Given the description of an element on the screen output the (x, y) to click on. 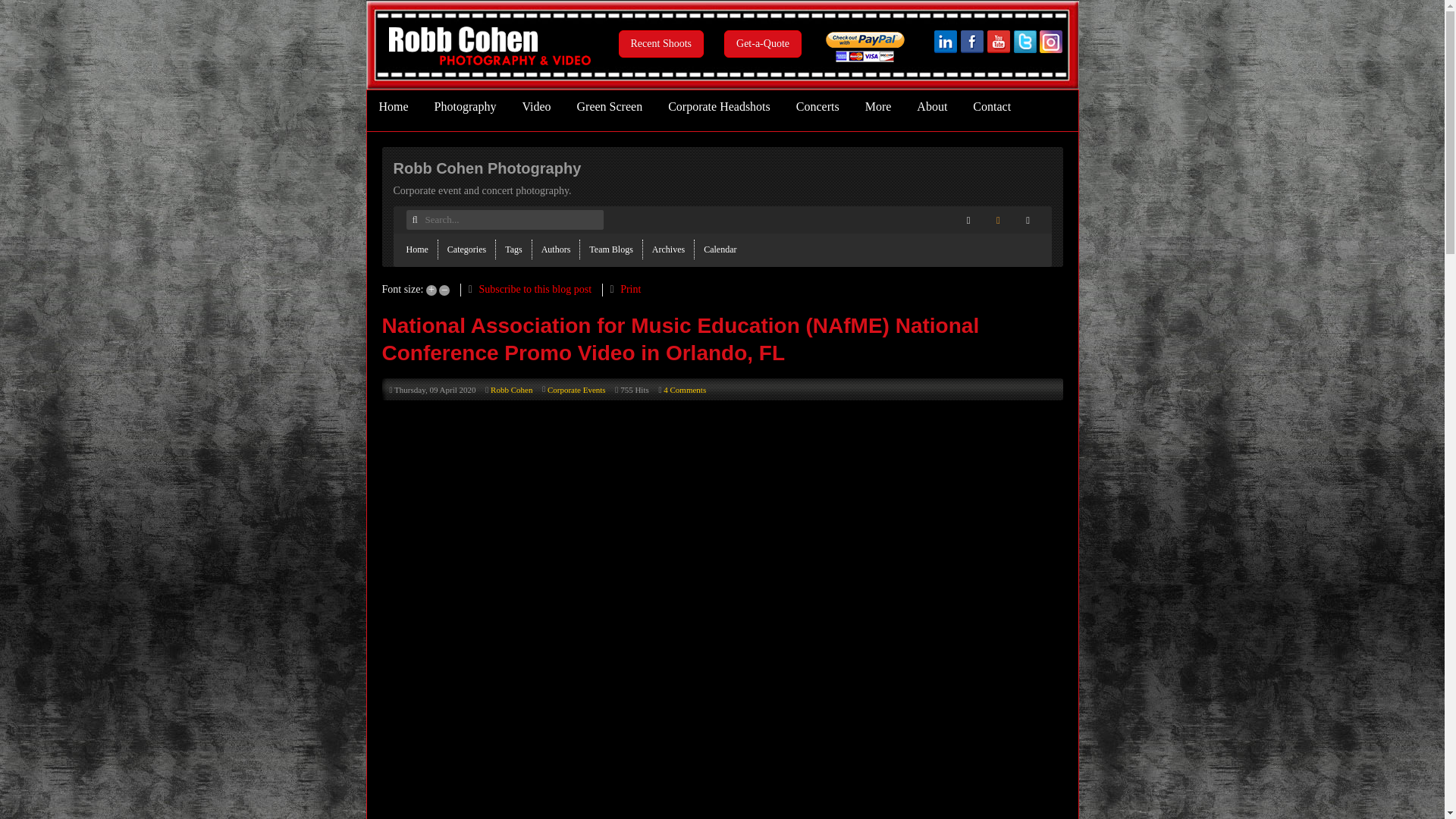
Green Screen (610, 106)
Recent Shoots (661, 43)
Video (535, 106)
Corporate Headshots (719, 106)
Concerts (817, 106)
Home (394, 106)
Print (630, 288)
About (931, 106)
Get-a-Quote (762, 43)
More (877, 106)
Corporate Photographer Atlanta (1000, 49)
Photography (465, 106)
